Given the description of an element on the screen output the (x, y) to click on. 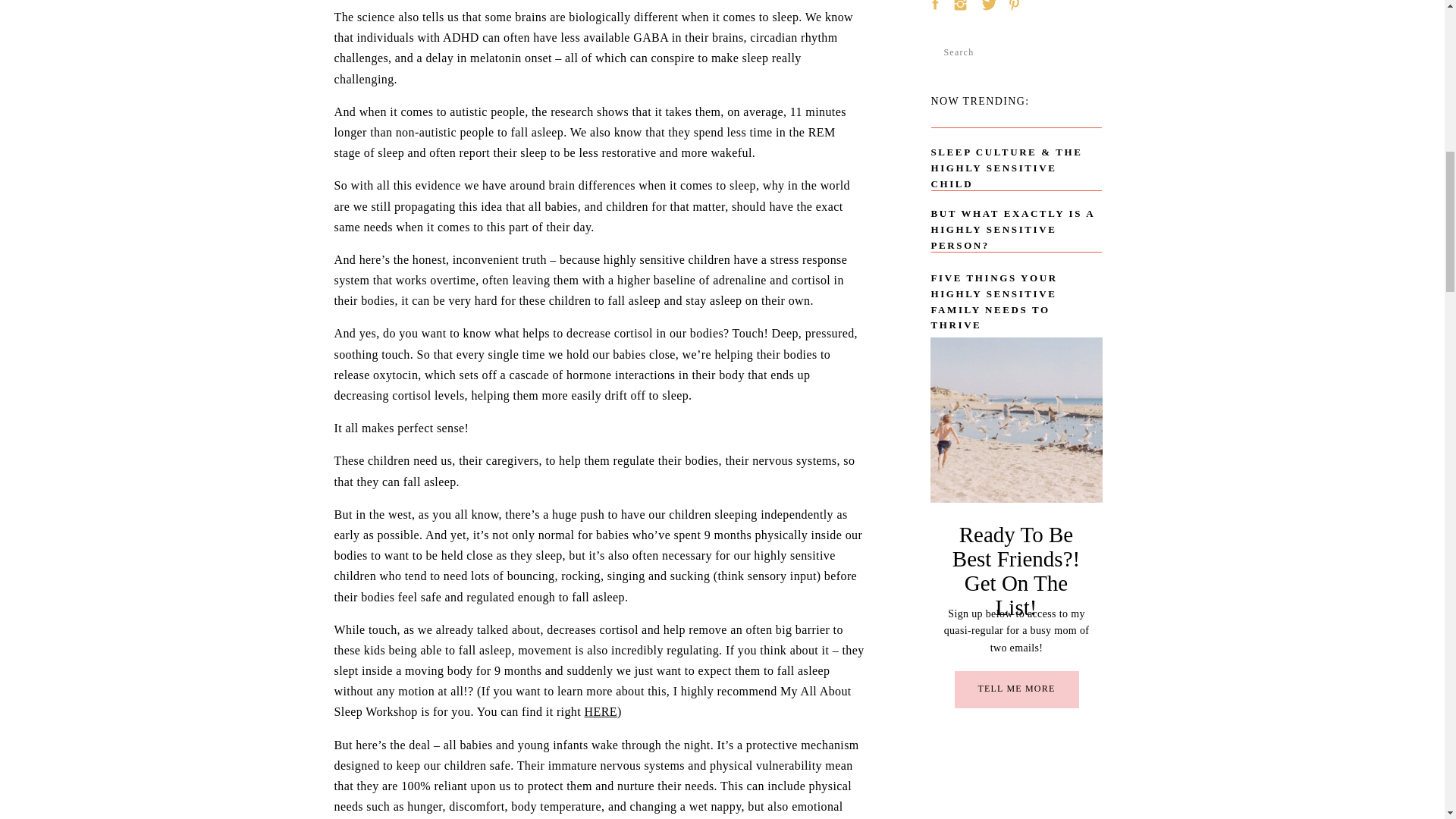
TELL ME MORE (1016, 691)
BUT WHAT EXACTLY IS A HIGHLY SENSITIVE PERSON? (1021, 221)
FIVE THINGS YOUR HIGHLY SENSITIVE FAMILY NEEDS TO THRIVE (1016, 288)
HERE (601, 711)
